Given the description of an element on the screen output the (x, y) to click on. 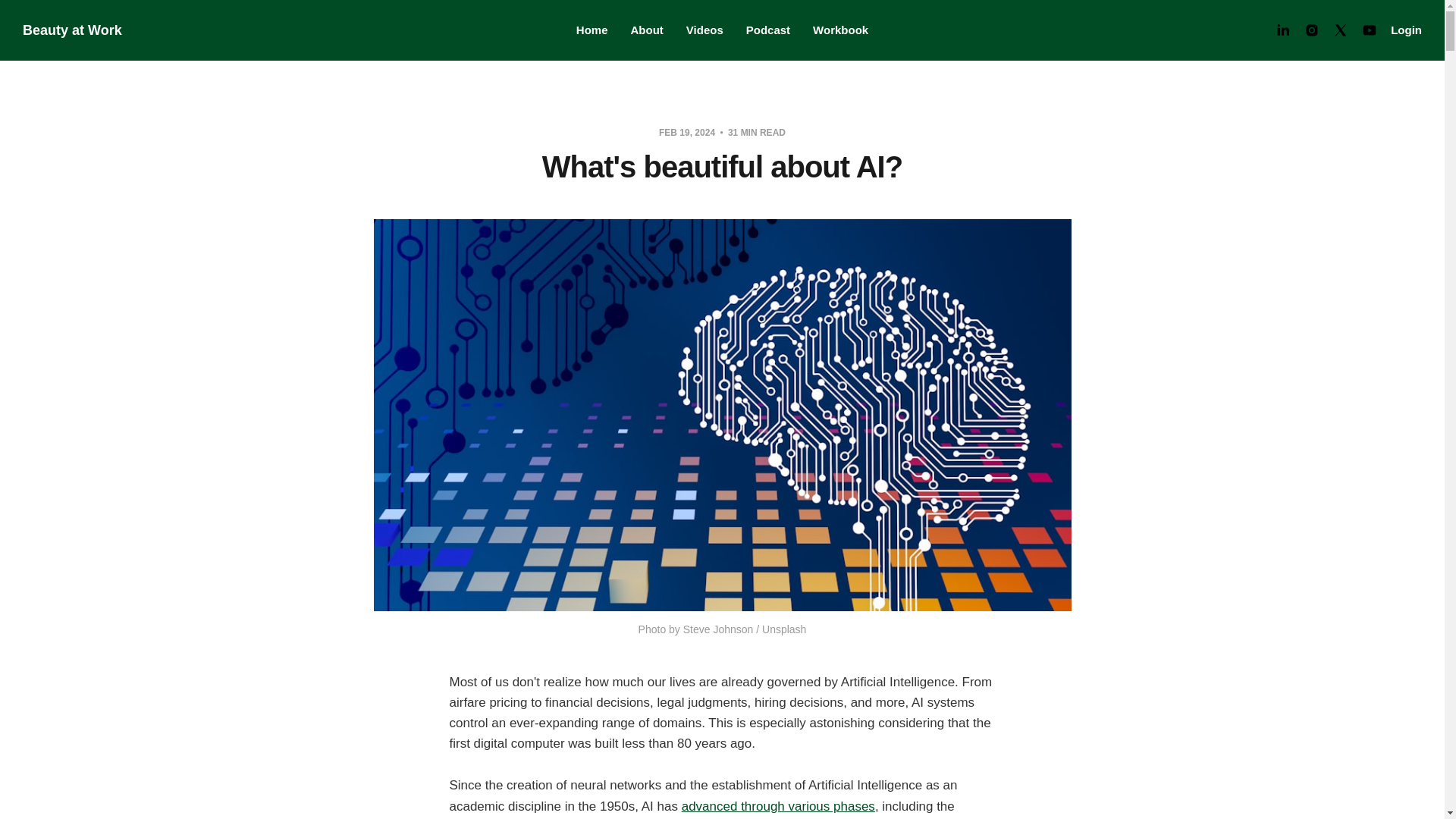
advanced through various phases (778, 806)
Unsplash (783, 629)
Login (1406, 30)
Steve Johnson (718, 629)
Home (592, 30)
Workbook (839, 30)
Beauty at Work (72, 30)
Podcast (767, 30)
About (646, 30)
Videos (704, 30)
